Given the description of an element on the screen output the (x, y) to click on. 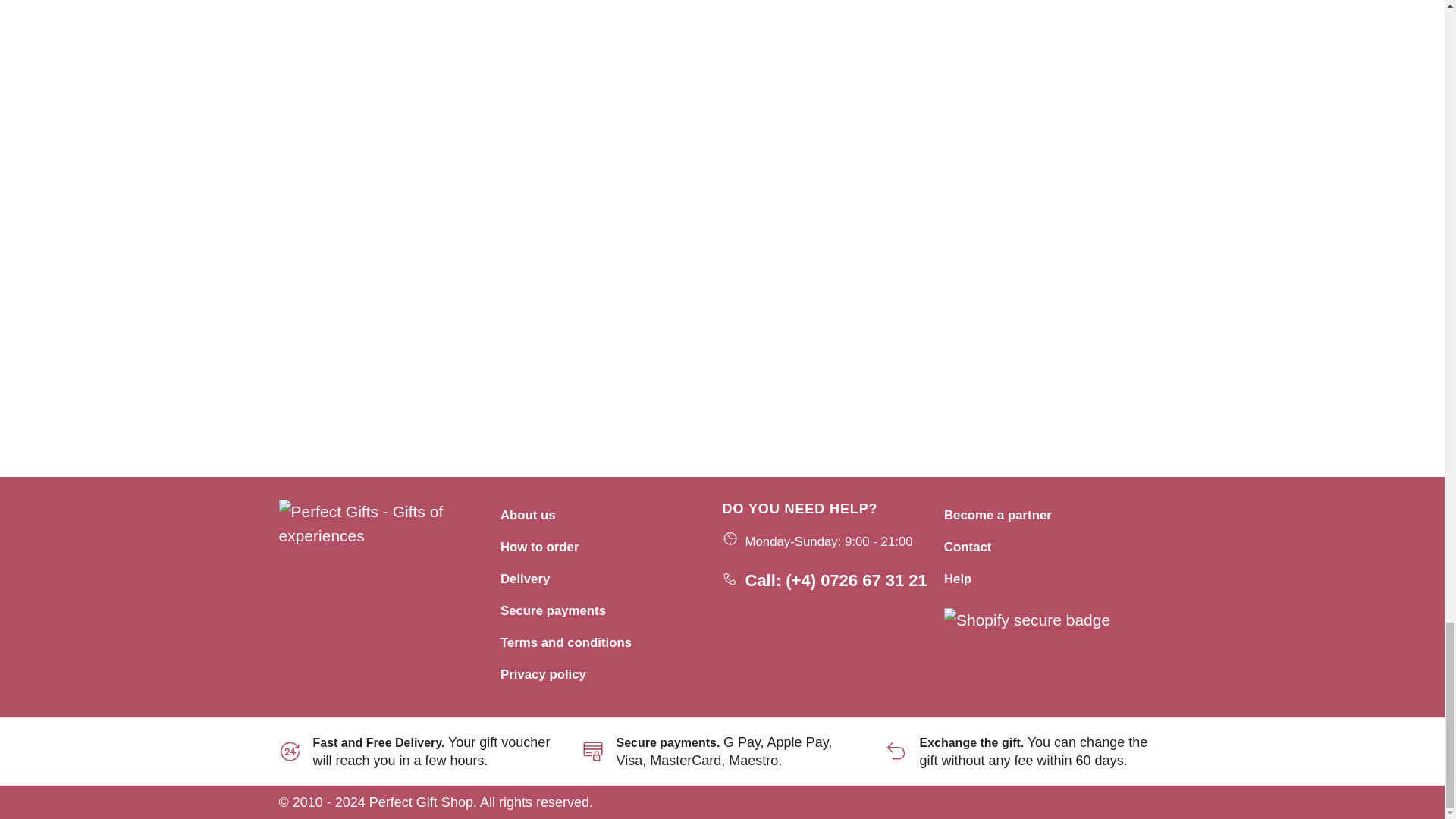
Terms and conditions (565, 642)
Become a Partner! (997, 514)
Help - frequently asked questions (957, 578)
Delivery (525, 578)
Contact (967, 546)
How to order (539, 546)
About us (528, 514)
Secure payments (552, 610)
This online store is secured by Shopify (1026, 618)
Privacy policy (543, 674)
